Given the description of an element on the screen output the (x, y) to click on. 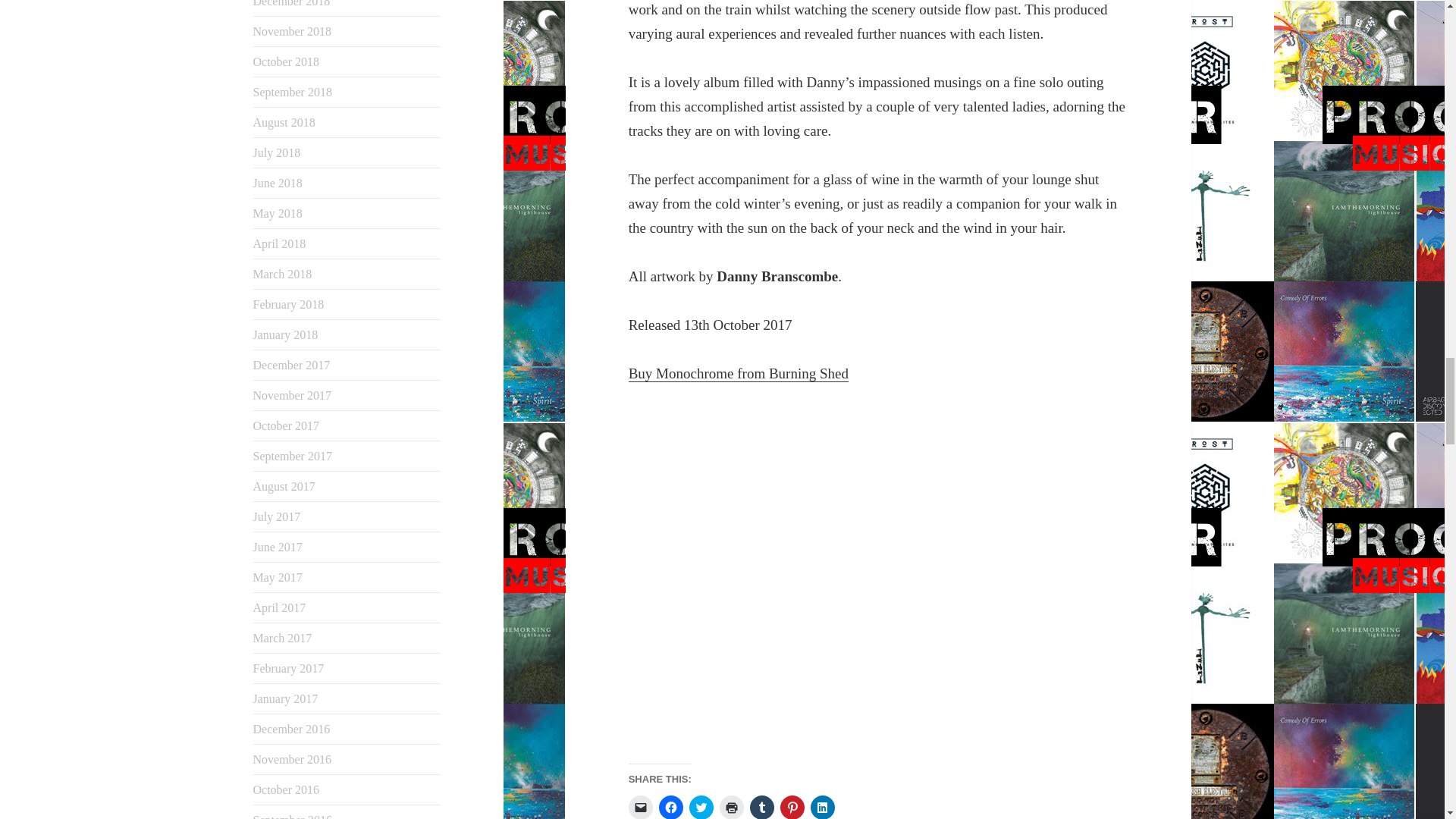
Click to share on Pinterest (792, 807)
Click to share on Twitter (700, 807)
Click to print (731, 807)
Click to share on Tumblr (761, 807)
Click to share on LinkedIn (822, 807)
Click to email a link to a friend (640, 807)
Click to share on Facebook (670, 807)
